Given the description of an element on the screen output the (x, y) to click on. 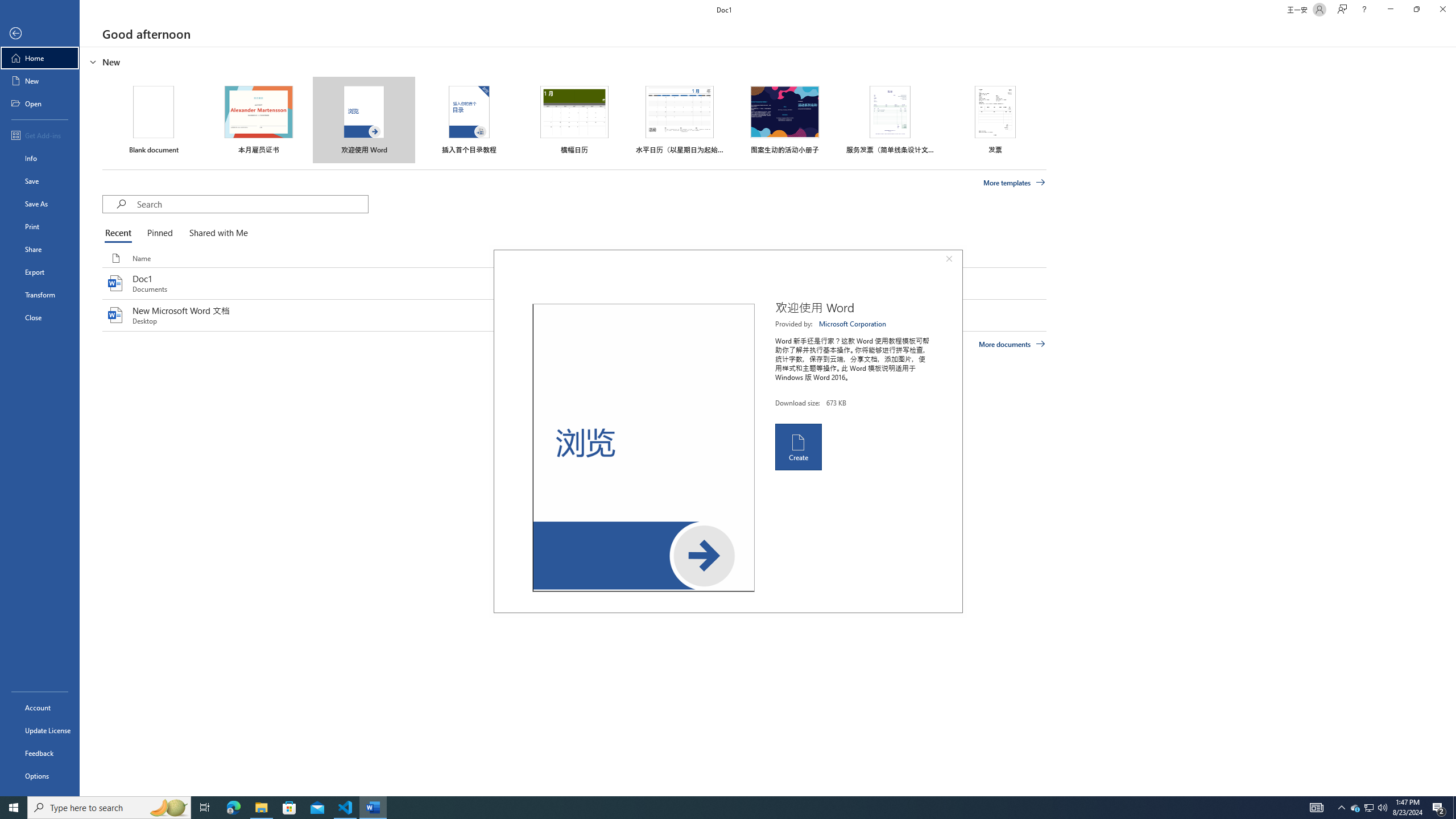
Save As (40, 203)
Doc1 (573, 283)
More templates (1014, 182)
Pinned (159, 233)
Get Add-ins (40, 134)
Preview (643, 447)
